Given the description of an element on the screen output the (x, y) to click on. 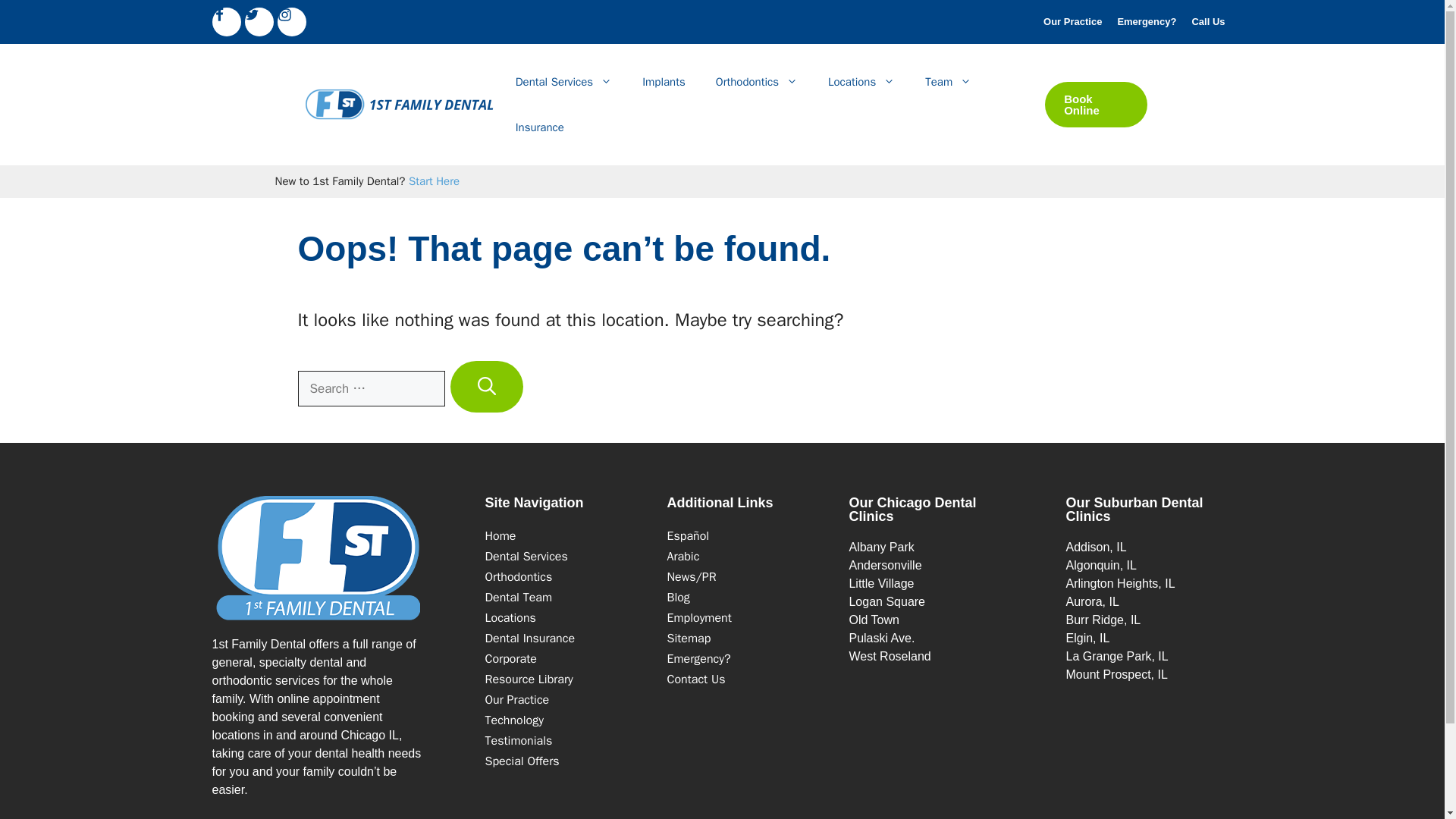
Orthodontics (756, 81)
Search for: (370, 389)
Resource Library (528, 679)
Dental Team (948, 81)
Insurance (529, 638)
Dental Services (563, 81)
Locations (509, 617)
Corporate Partnerships (510, 658)
Dental Team (518, 597)
Home (500, 535)
Locations (861, 81)
Our Practice (1072, 21)
Orthodontics (518, 576)
Special Offers (521, 761)
Insurance (539, 126)
